Given the description of an element on the screen output the (x, y) to click on. 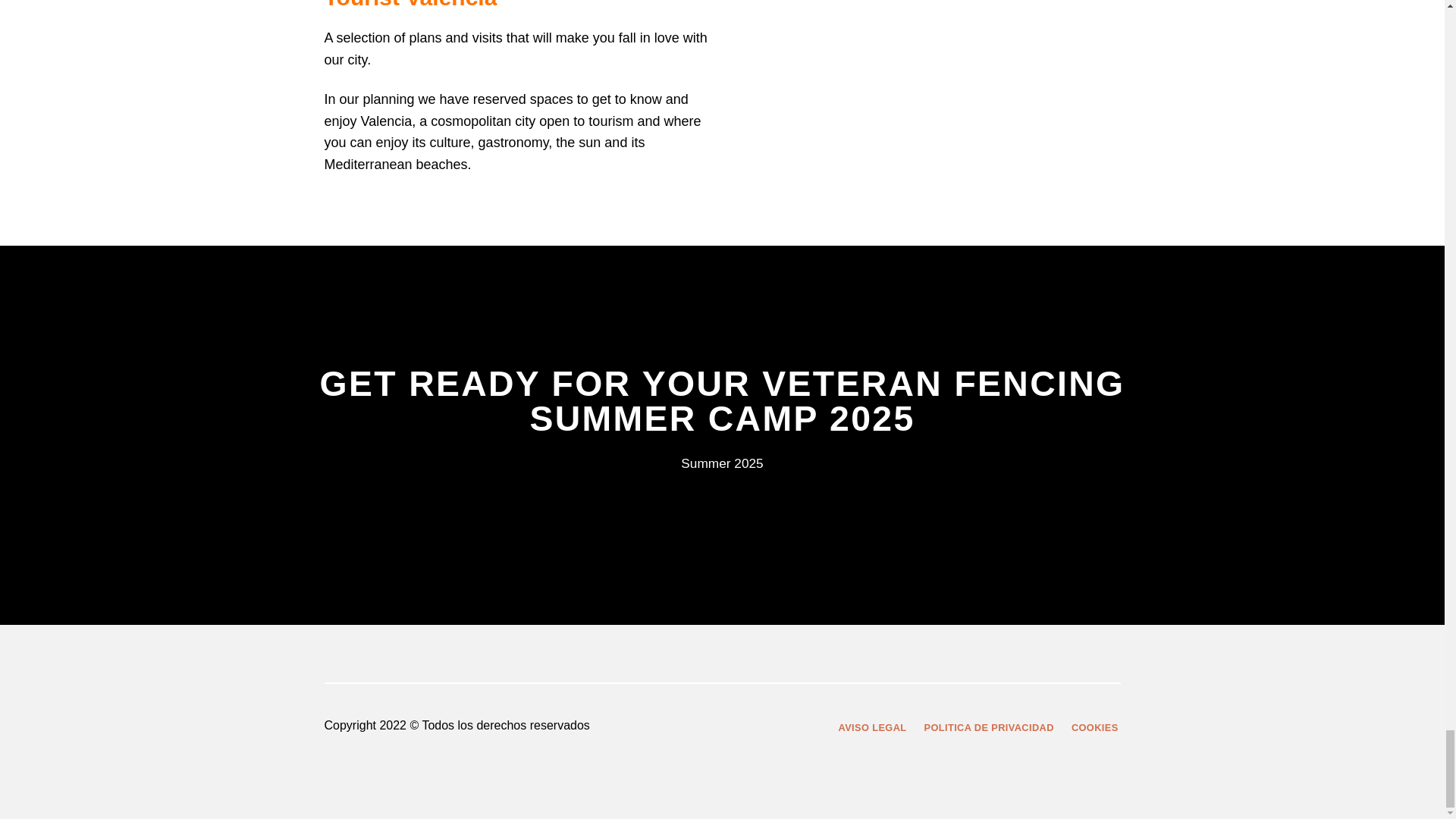
COOKIES (1094, 728)
AVISO LEGAL (871, 728)
POLITICA DE PRIVACIDAD (989, 728)
